Given the description of an element on the screen output the (x, y) to click on. 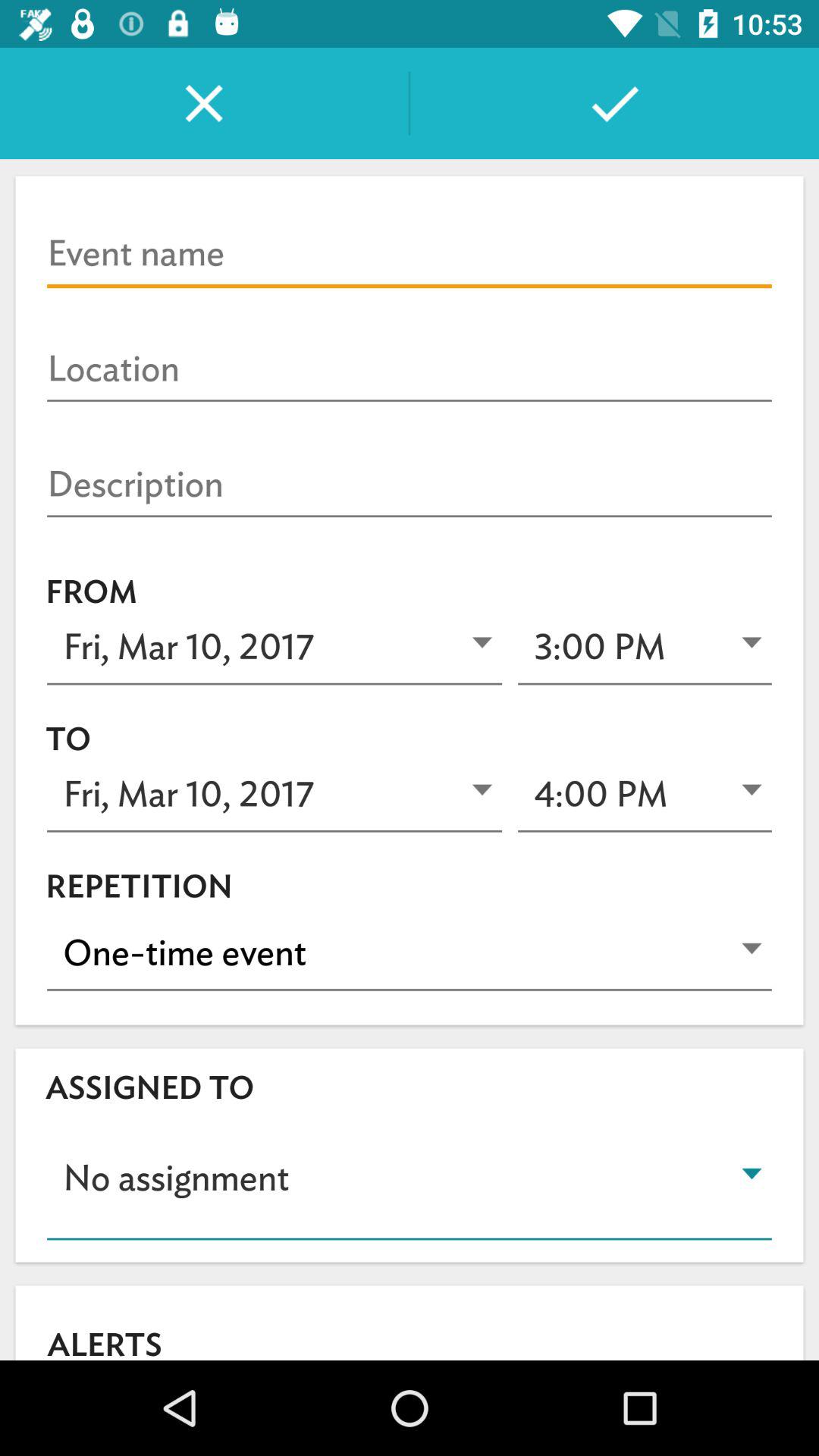
enter event name (409, 254)
